Given the description of an element on the screen output the (x, y) to click on. 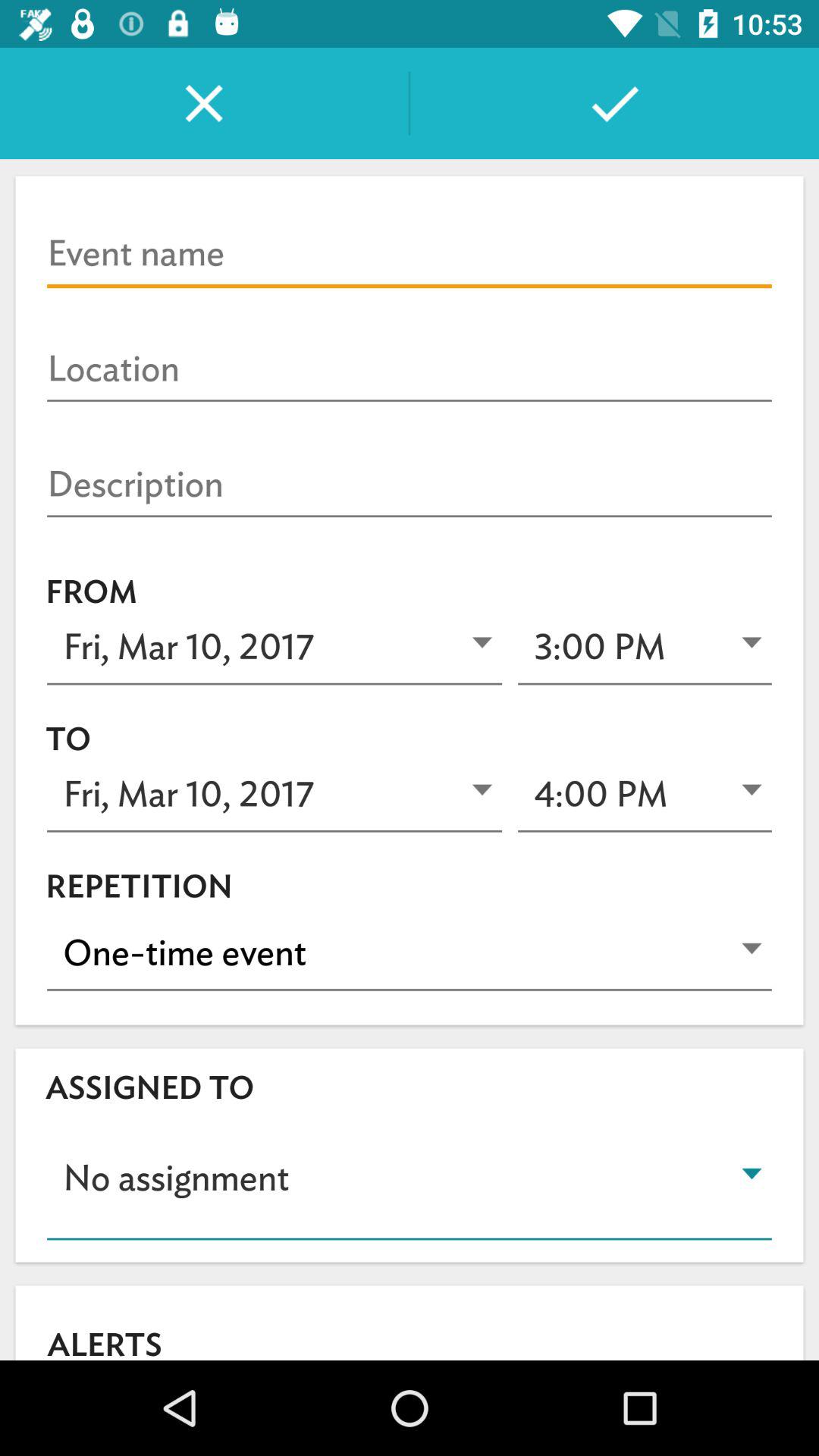
enter event name (409, 254)
